Given the description of an element on the screen output the (x, y) to click on. 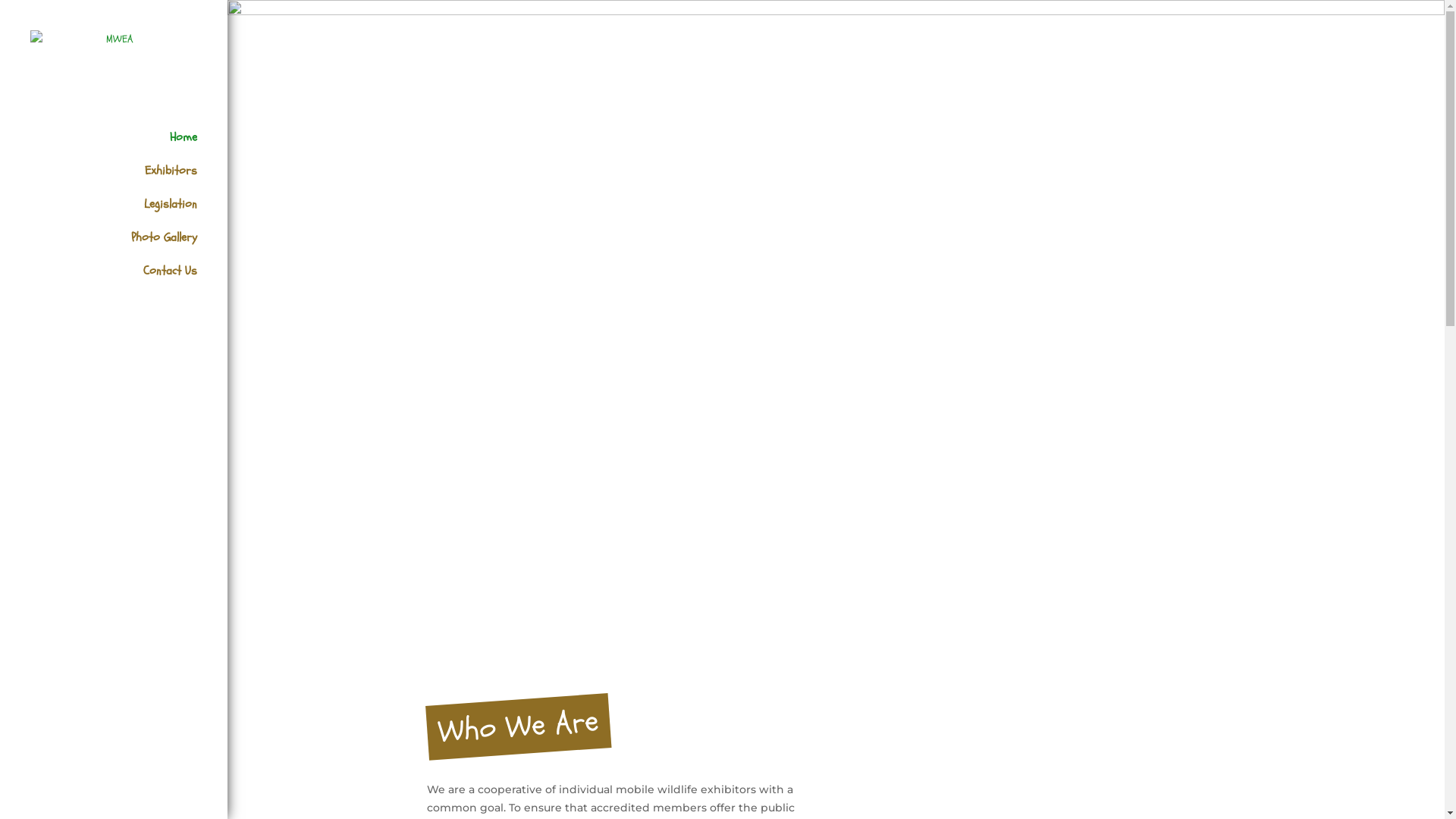
Photo Gallery Element type: text (128, 248)
Legislation Element type: text (128, 215)
Home Element type: text (128, 148)
Exhibitors Element type: text (128, 181)
Contact Us Element type: text (128, 281)
